Given the description of an element on the screen output the (x, y) to click on. 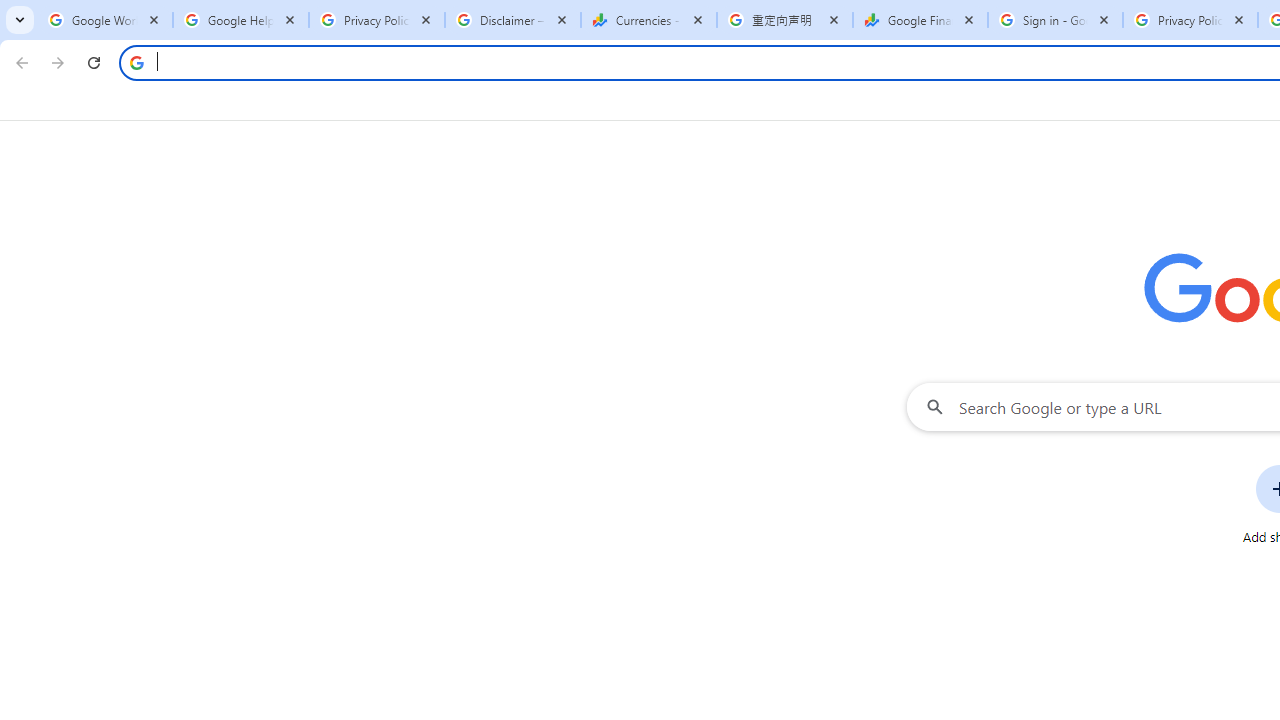
Google Workspace Admin Community (104, 20)
Currencies - Google Finance (648, 20)
Sign in - Google Accounts (1055, 20)
